Given the description of an element on the screen output the (x, y) to click on. 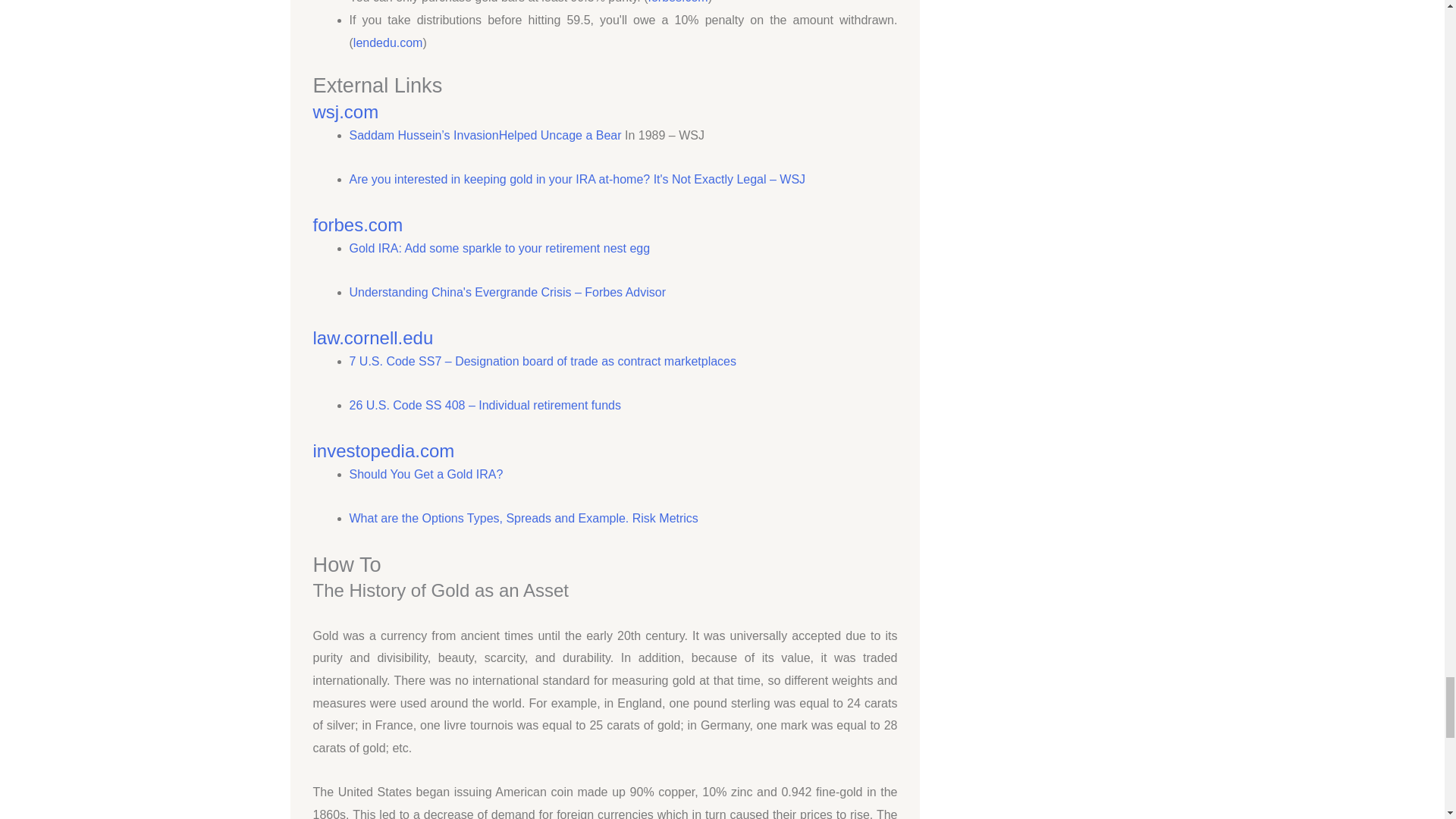
investopedia.com (383, 450)
Gold IRA: Add some sparkle to your retirement nest egg (499, 247)
Bear (608, 134)
lendedu.com (388, 42)
law.cornell.edu (372, 337)
forbes.com (358, 224)
wsj.com (345, 111)
forbes.com (677, 2)
Should You Get a Gold IRA? (425, 473)
